Given the description of an element on the screen output the (x, y) to click on. 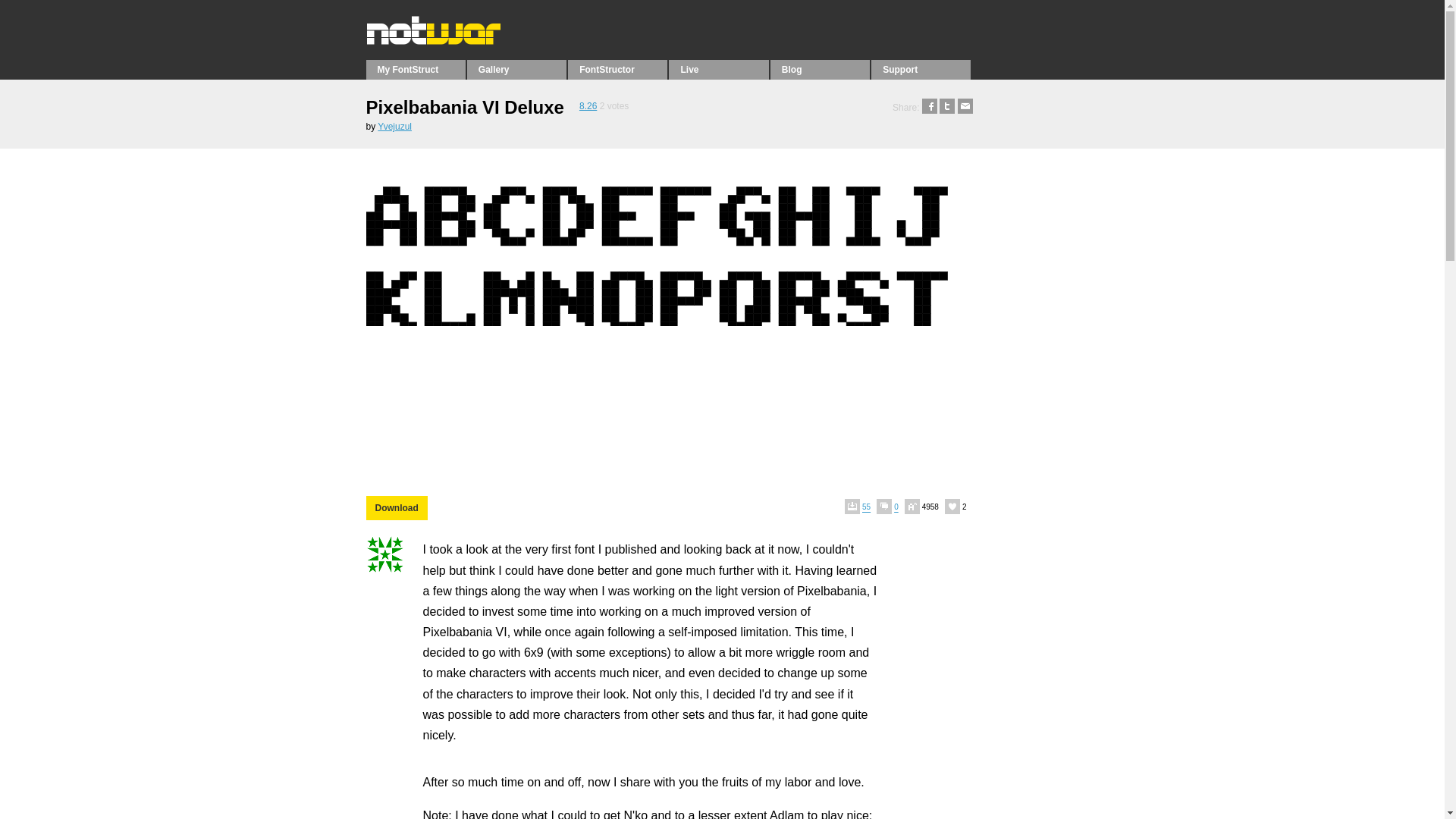
Yvejuzul (394, 126)
Live (718, 69)
FontStructor (616, 69)
Email this to a friend (964, 107)
8.26 (587, 105)
Download for desktop use (395, 508)
Download (395, 508)
